Given the description of an element on the screen output the (x, y) to click on. 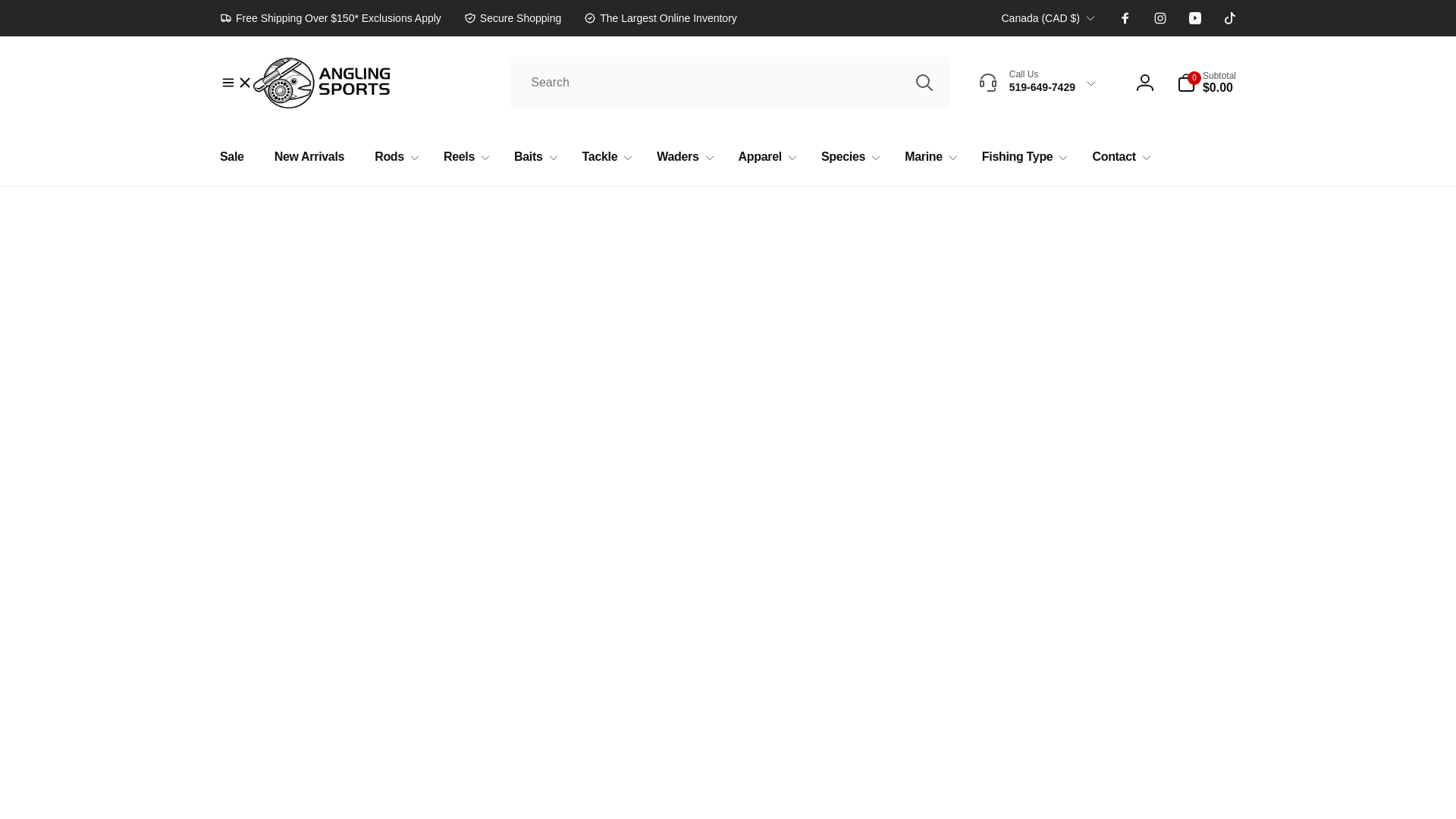
YouTube (1195, 18)
TikTok (1230, 18)
Skip to content (16, 8)
Facebook (1125, 18)
Instagram (1160, 18)
Secure Shopping (512, 17)
The Largest Online Inventory (659, 17)
